Given the description of an element on the screen output the (x, y) to click on. 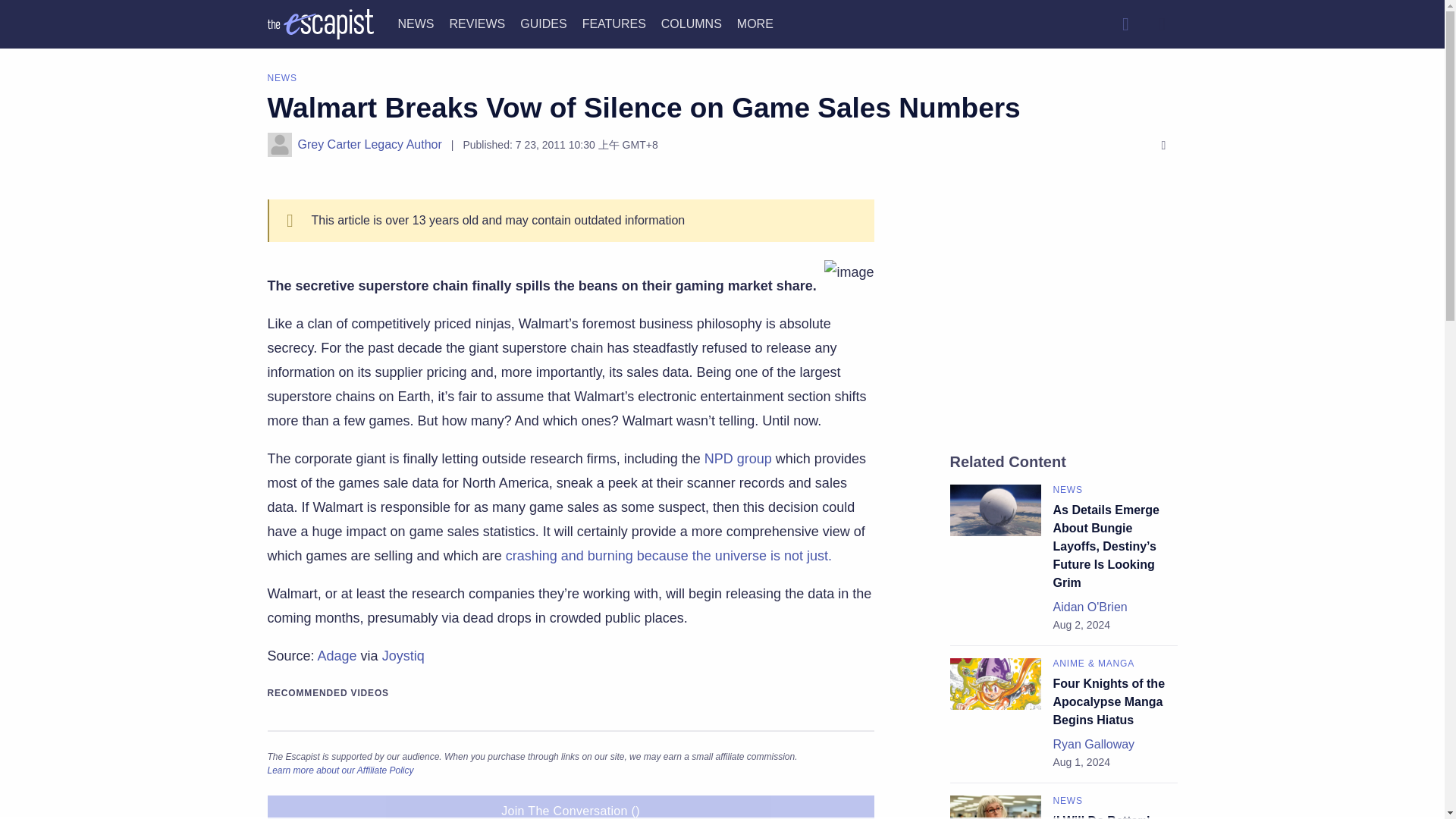
COLUMNS (691, 23)
REVIEWS (476, 23)
NEWS (415, 23)
FEATURES (614, 23)
Dark Mode (1161, 24)
GUIDES (542, 23)
Search (1124, 24)
